Given the description of an element on the screen output the (x, y) to click on. 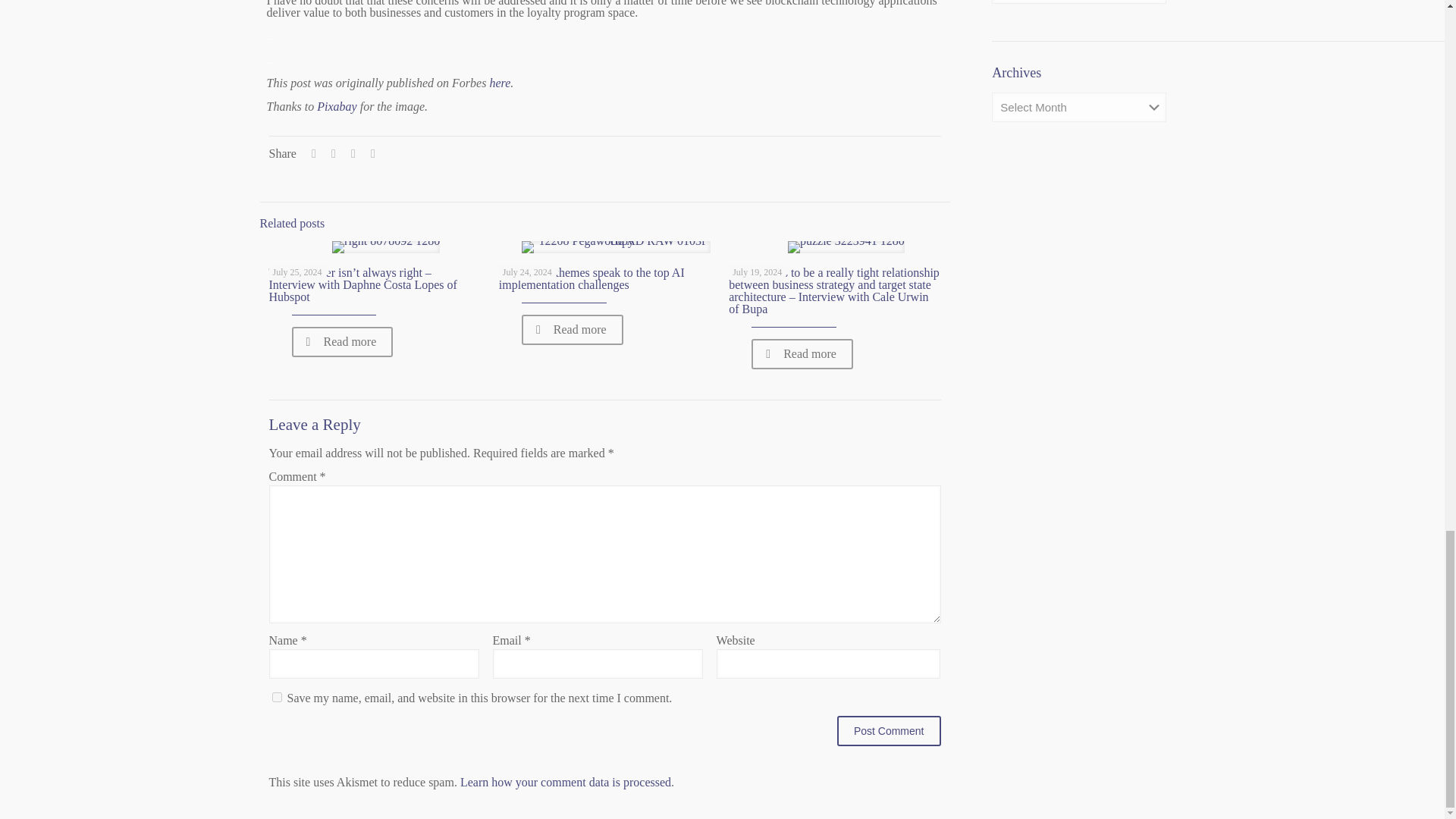
Post Comment (888, 730)
yes (275, 696)
Pixabay (336, 106)
here (500, 82)
